Given the description of an element on the screen output the (x, y) to click on. 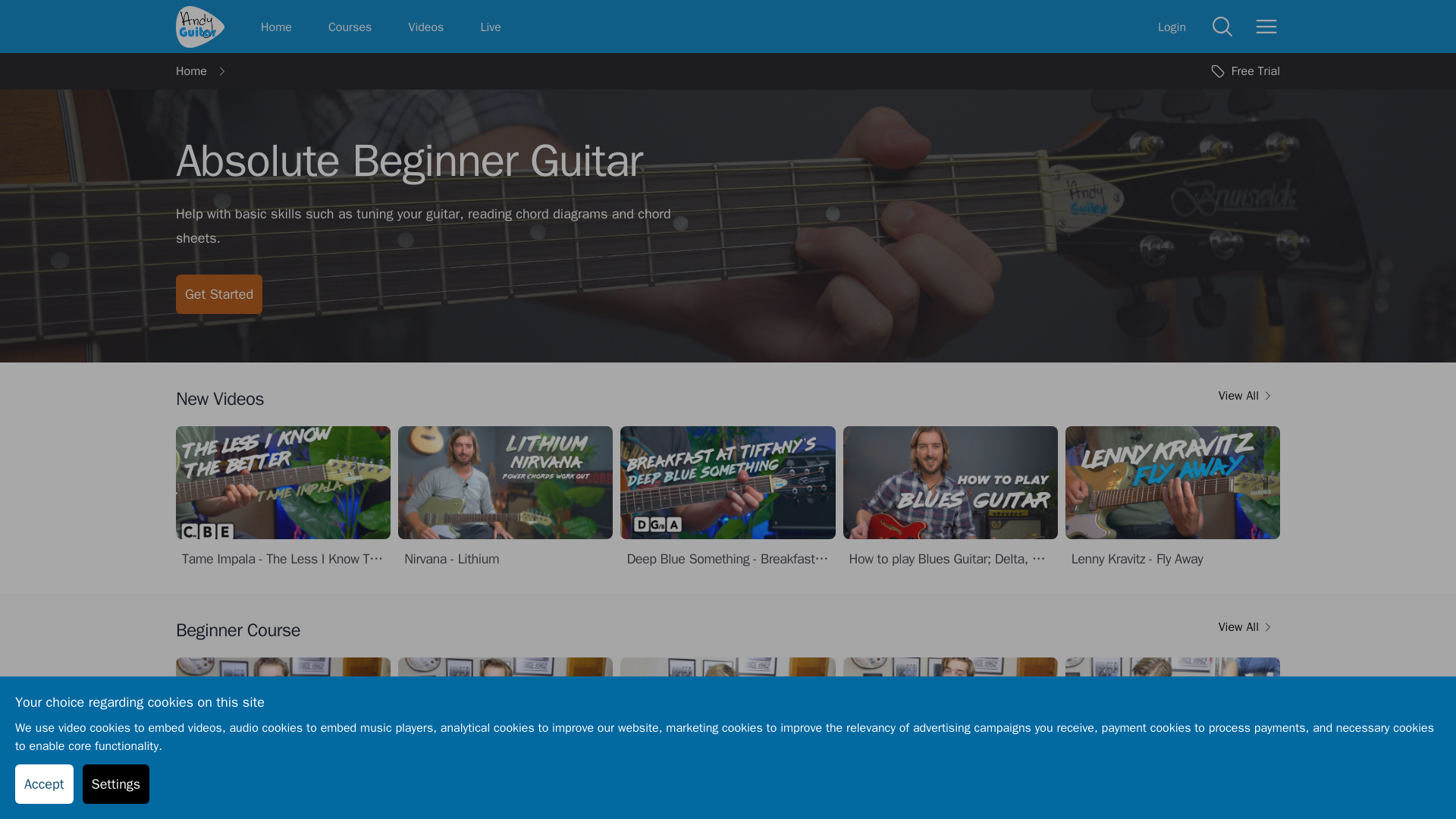
Andy Guitar (200, 25)
Live (489, 25)
Nirvana - Lithium (504, 497)
Deep Blue Something - Breakfast at Tiffany's (727, 497)
Get Started (219, 293)
View All (1248, 398)
Open search (1222, 26)
Courses (349, 25)
Videos (425, 25)
Login (1171, 25)
